Given the description of an element on the screen output the (x, y) to click on. 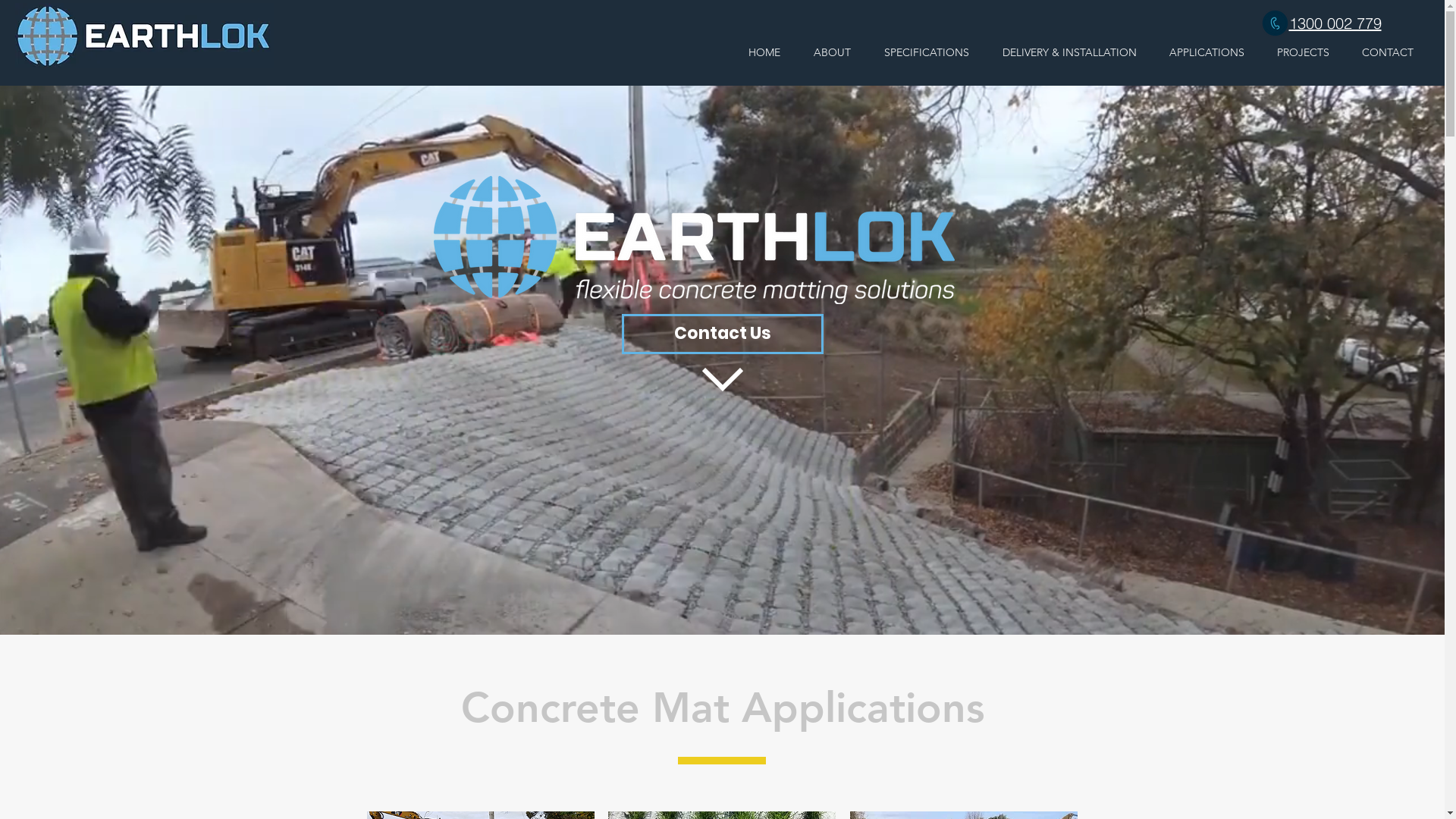
SPECIFICATIONS Element type: text (926, 52)
APPLICATIONS Element type: text (1206, 52)
CONTACT Element type: text (1387, 52)
HOME Element type: text (764, 52)
PROJECTS Element type: text (1302, 52)
DELIVERY & INSTALLATION Element type: text (1068, 52)
1300 002 779 Element type: text (1335, 23)
Contact Us Element type: text (722, 333)
ABOUT Element type: text (832, 52)
TWIPLA (Visitor Analytics) Element type: hover (529, 530)
